Given the description of an element on the screen output the (x, y) to click on. 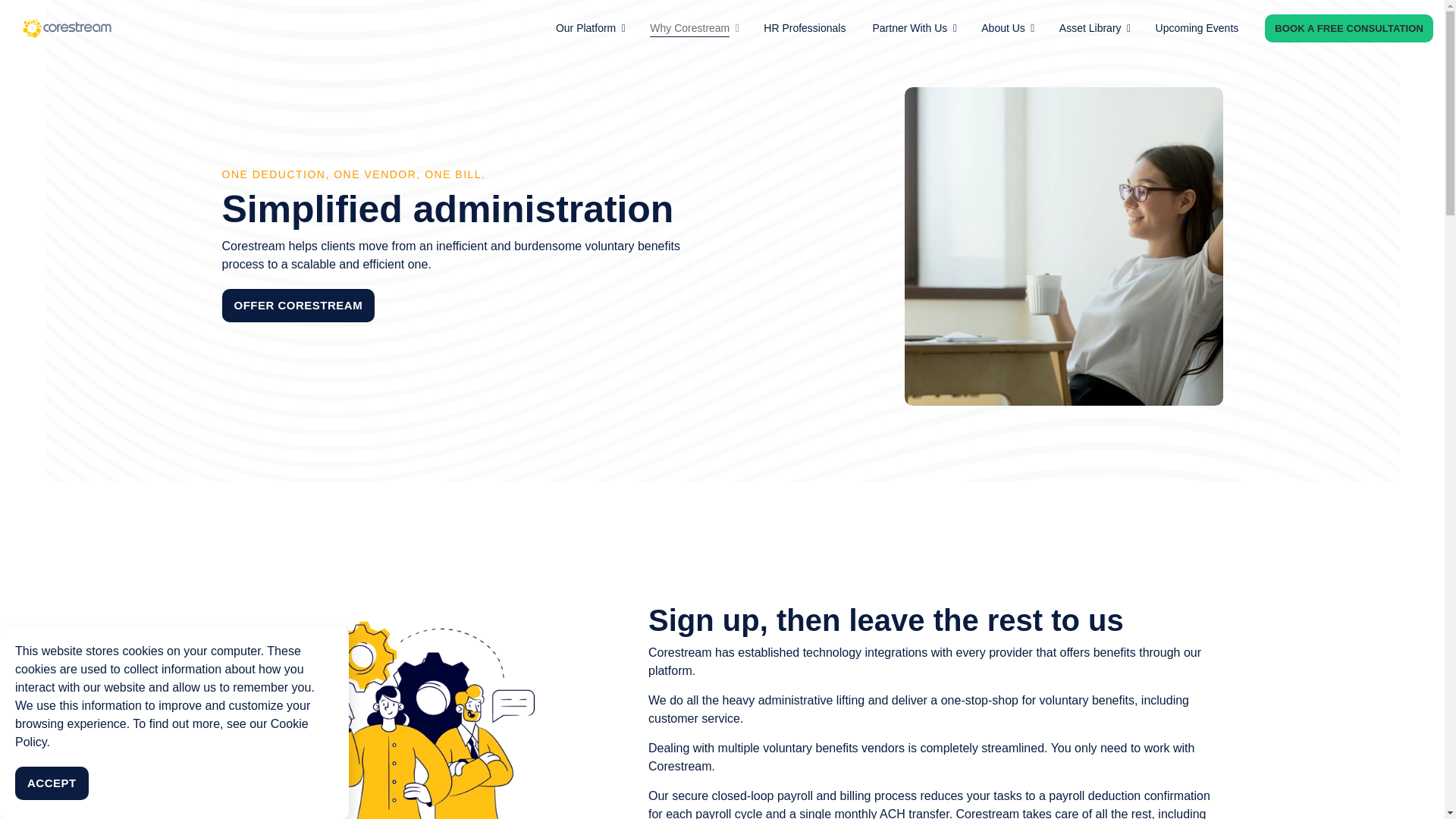
About Us (1007, 28)
Why Corestream (693, 28)
Our Platform (589, 28)
Asset Library (1094, 28)
Corestream (66, 28)
Partner With Us (913, 28)
HR Professionals (804, 28)
OFFER CORESTREAM (297, 305)
Upcoming Events (1197, 28)
BOOK A FREE CONSULTATION (1348, 28)
Skip to main content (721, 16)
